Given the description of an element on the screen output the (x, y) to click on. 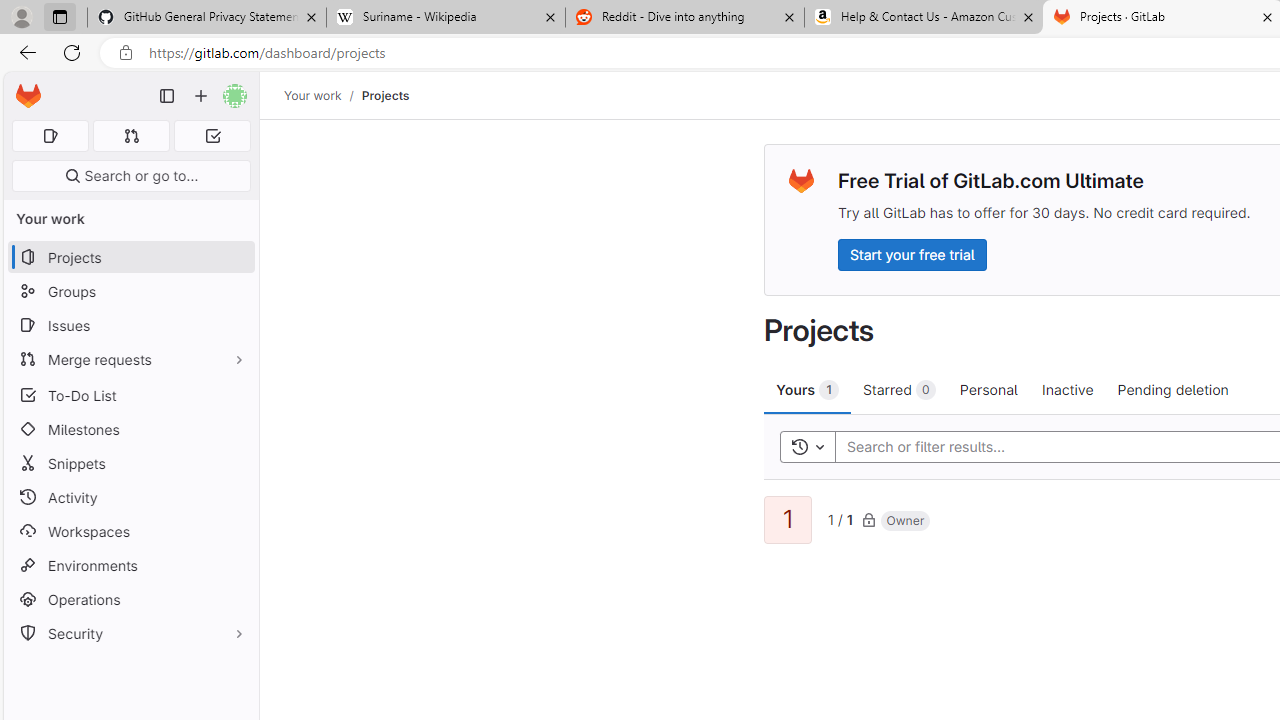
Security (130, 633)
Primary navigation sidebar (167, 96)
Snippets (130, 463)
Merge requests (130, 358)
Yours 1 (808, 389)
Merge requests (130, 358)
Pending deletion (1172, 389)
Merge requests 0 (131, 136)
Create new... (201, 96)
